Given the description of an element on the screen output the (x, y) to click on. 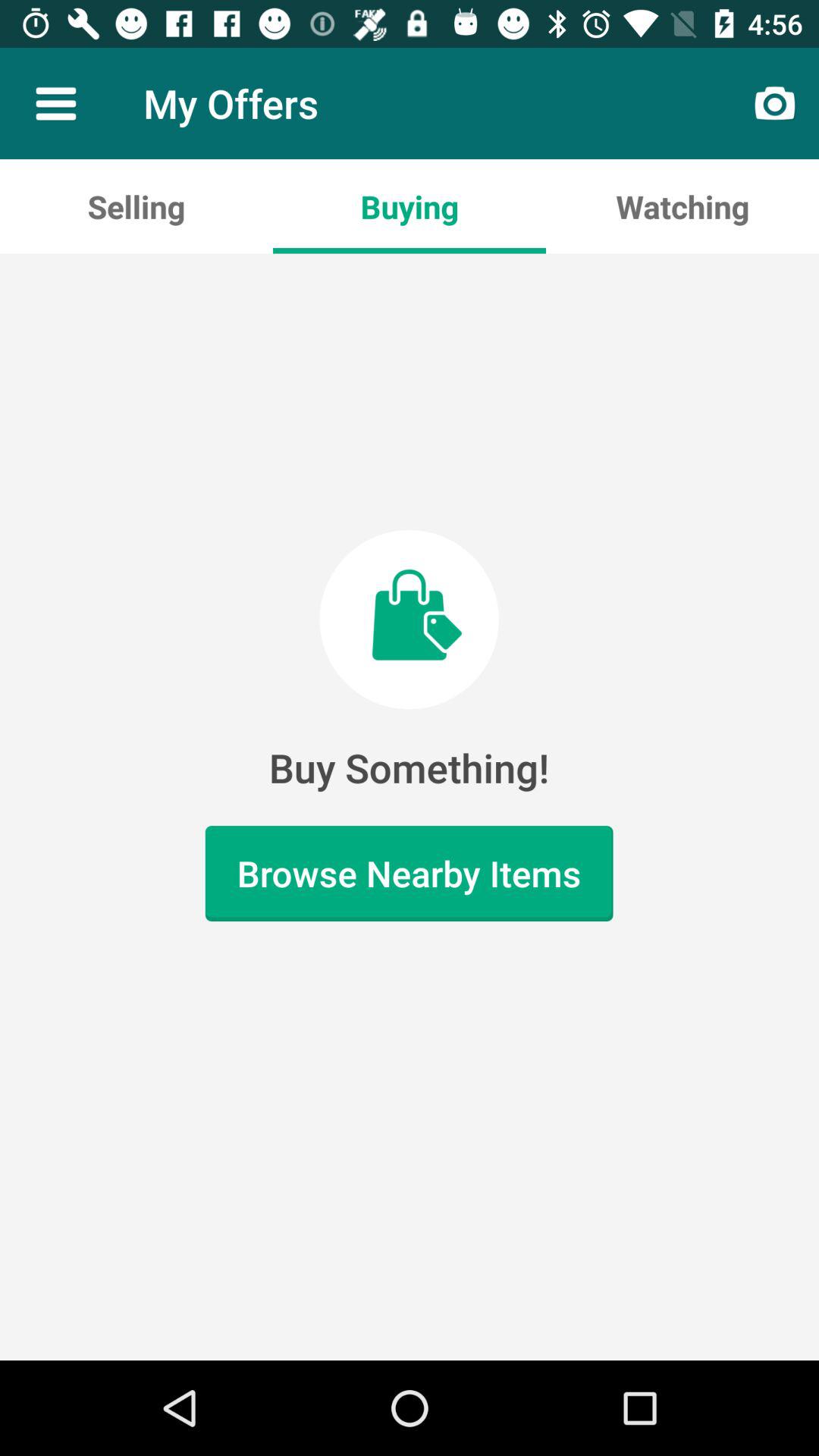
scroll to the watching (682, 206)
